Given the description of an element on the screen output the (x, y) to click on. 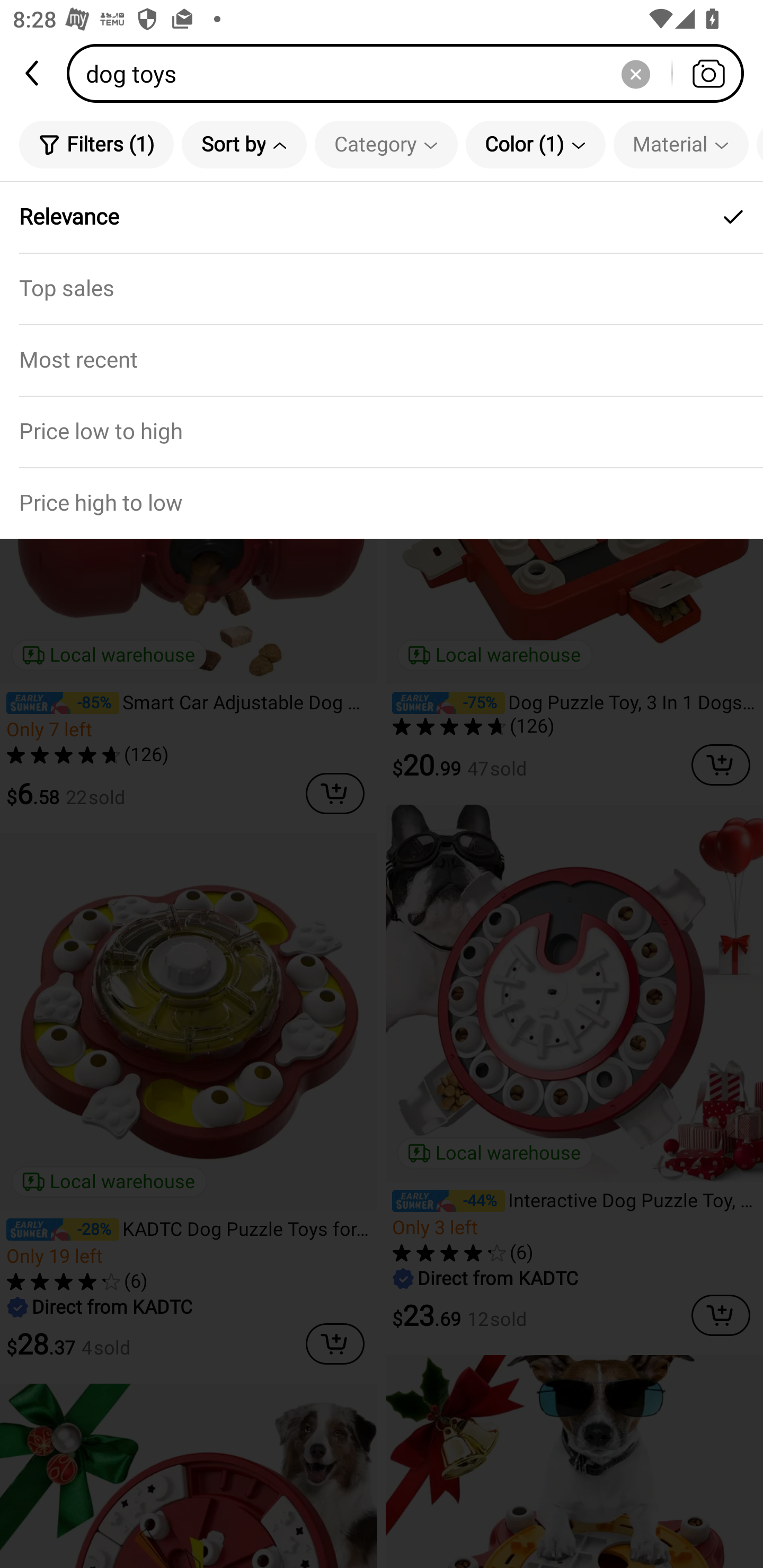
back (33, 72)
dog toys (411, 73)
Delete search history (635, 73)
Search by photo (708, 73)
Filters (1) (96, 143)
Sort by (243, 143)
Category (385, 143)
Color (1) (535, 143)
Material (680, 143)
Relevance (381, 216)
Top sales (381, 288)
Most recent (381, 359)
Price low to high (381, 431)
Price high to low (381, 503)
